Given the description of an element on the screen output the (x, y) to click on. 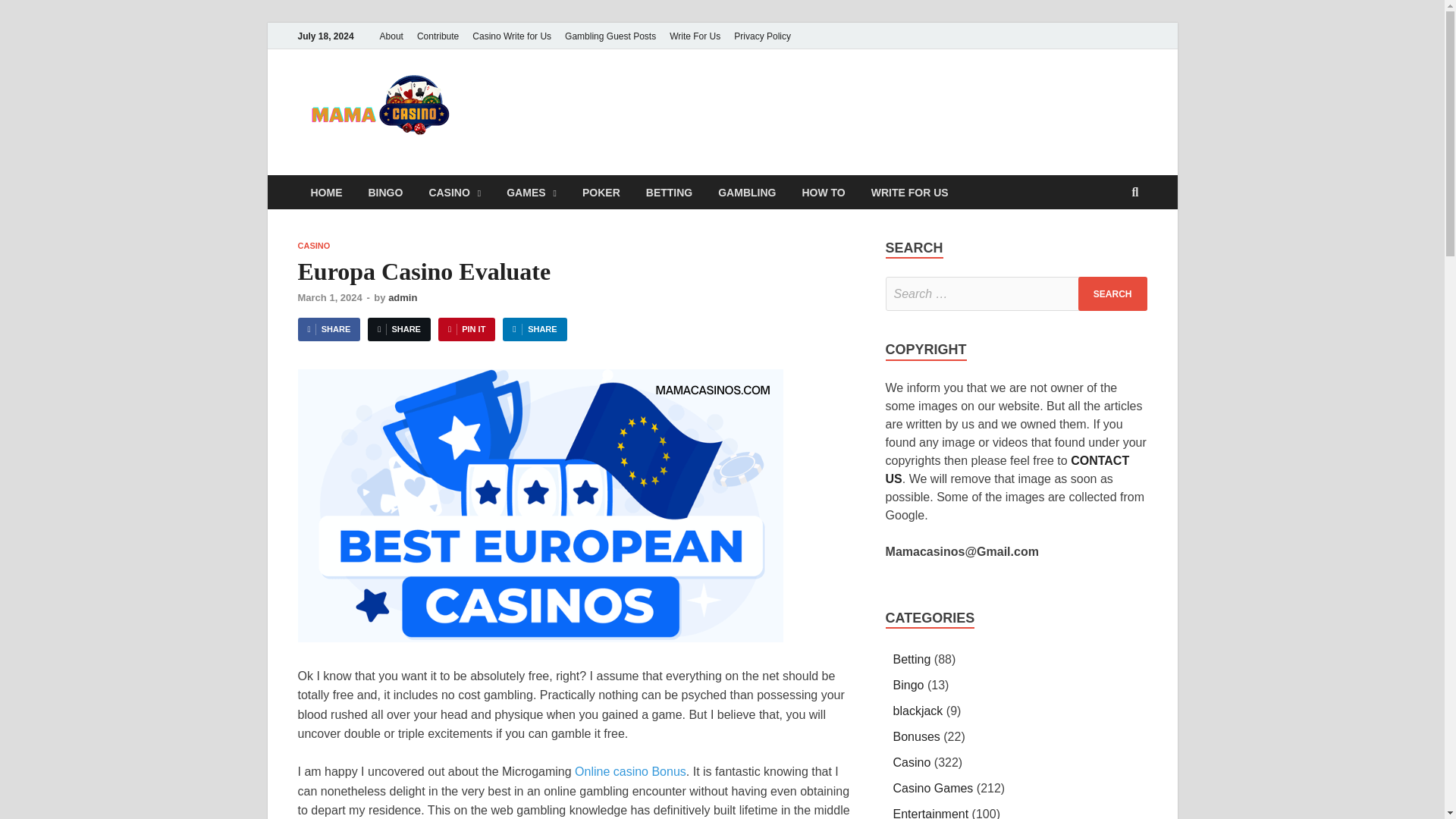
HOME (326, 192)
Search (1112, 293)
Write For Us (694, 35)
Gambling Guest Posts (609, 35)
SHARE (328, 329)
GAMES (531, 192)
admin (402, 297)
HOW TO (823, 192)
Casino Write for Us (511, 35)
About (391, 35)
SHARE (399, 329)
PIN IT (466, 329)
GAMBLING (746, 192)
March 1, 2024 (329, 297)
Search (1112, 293)
